Given the description of an element on the screen output the (x, y) to click on. 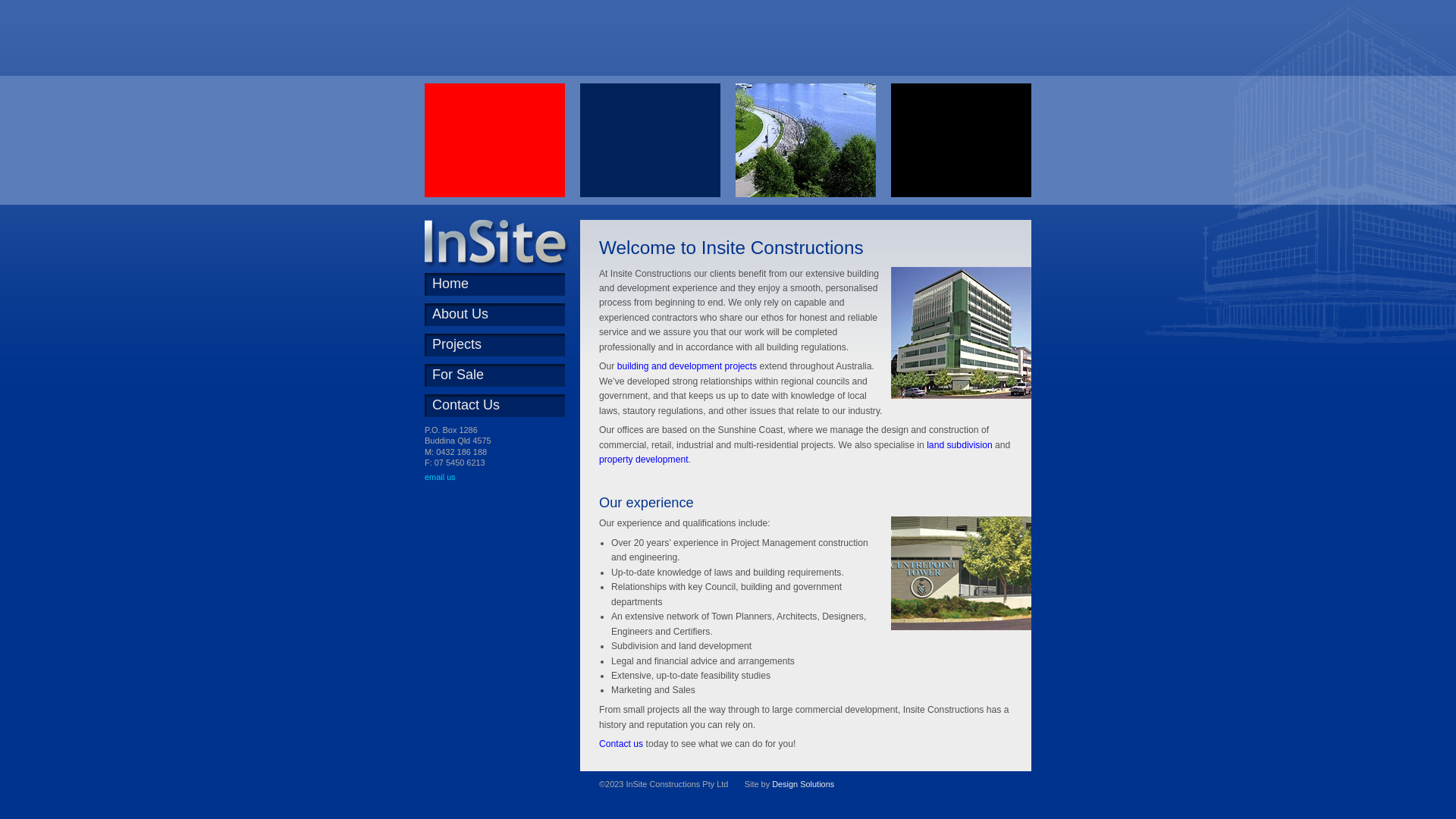
land subdivision Element type: text (959, 444)
Contact Us Element type: text (502, 405)
Contact us Element type: text (621, 743)
For Sale Element type: text (502, 375)
building and development projects Element type: text (687, 365)
email us Element type: text (439, 476)
About Us Element type: text (502, 314)
property development Element type: text (643, 459)
Projects Element type: text (502, 344)
Design Solutions Element type: text (802, 783)
Home Element type: text (502, 284)
